Given the description of an element on the screen output the (x, y) to click on. 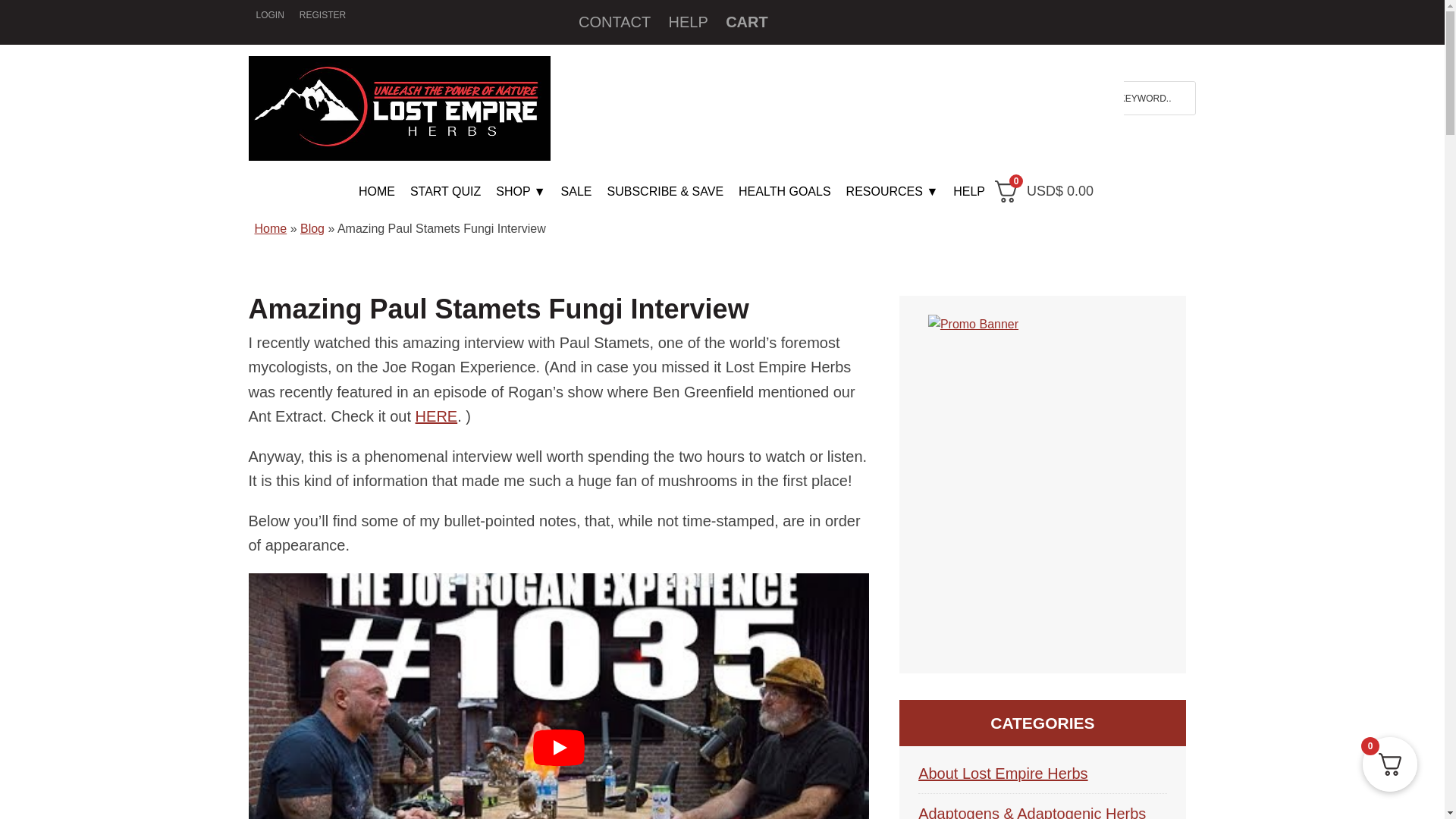
Register (322, 14)
REGISTER (322, 14)
Login (270, 14)
START QUIZ (445, 191)
HOME (376, 191)
Search (1184, 92)
HEALTH GOALS (784, 191)
1-866-764-3727 (943, 140)
CONTACT (614, 21)
